Given the description of an element on the screen output the (x, y) to click on. 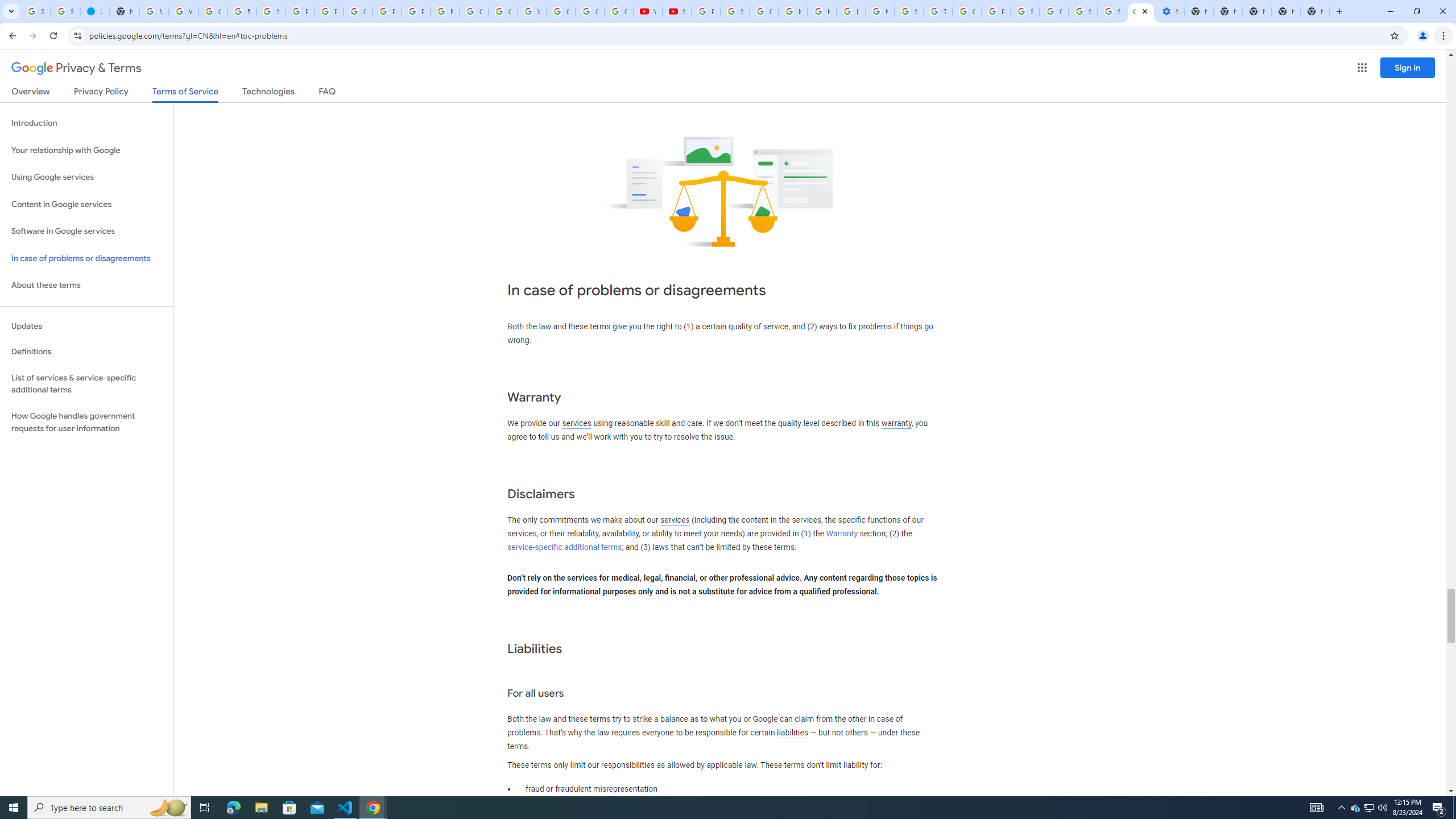
Settings - Performance (1169, 11)
Software in Google services (86, 230)
Google Account (590, 11)
Sign in - Google Accounts (65, 11)
Google Cybersecurity Innovations - Google Safety Center (1054, 11)
